Given the description of an element on the screen output the (x, y) to click on. 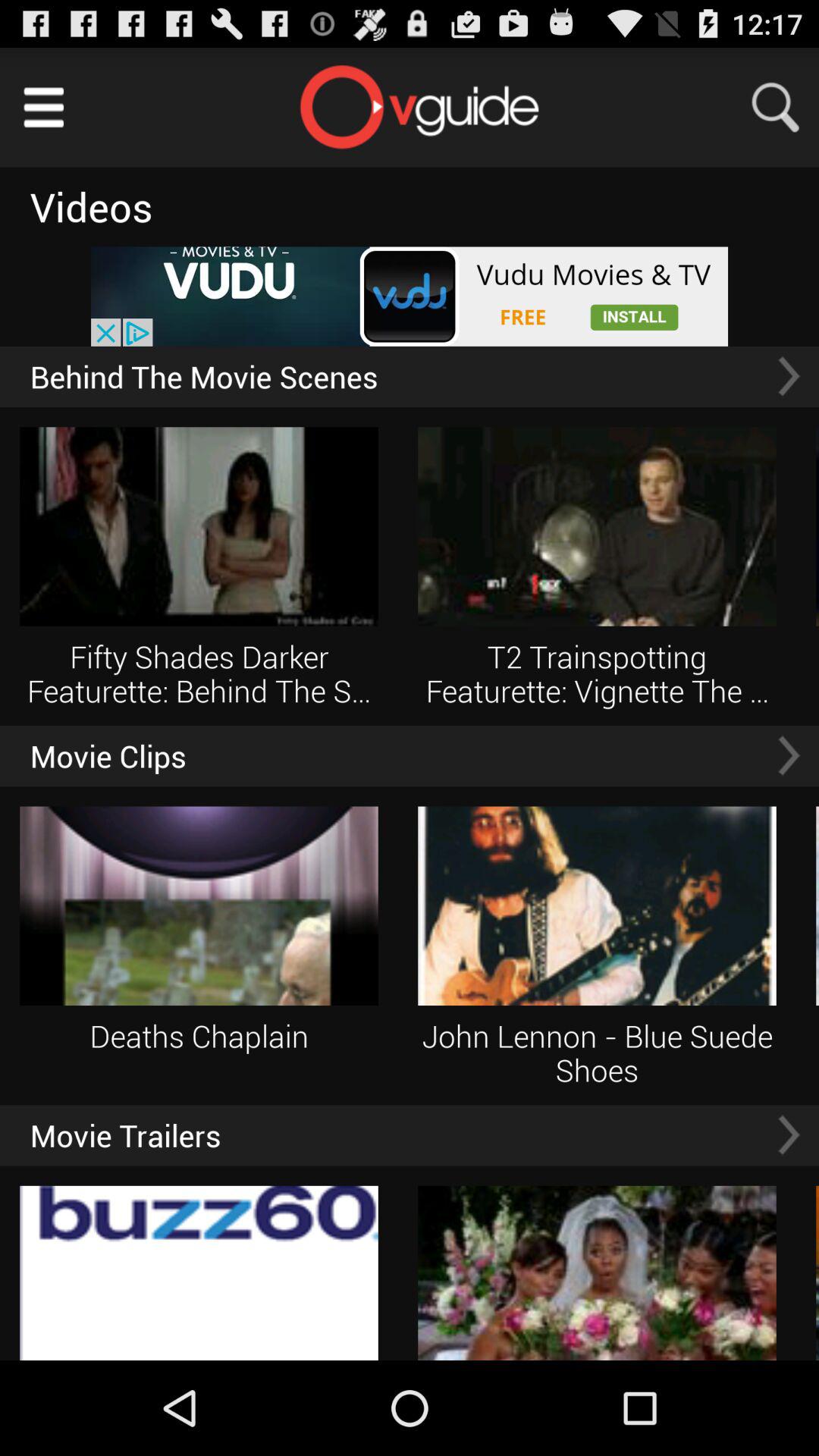
go to next (789, 755)
